Given the description of an element on the screen output the (x, y) to click on. 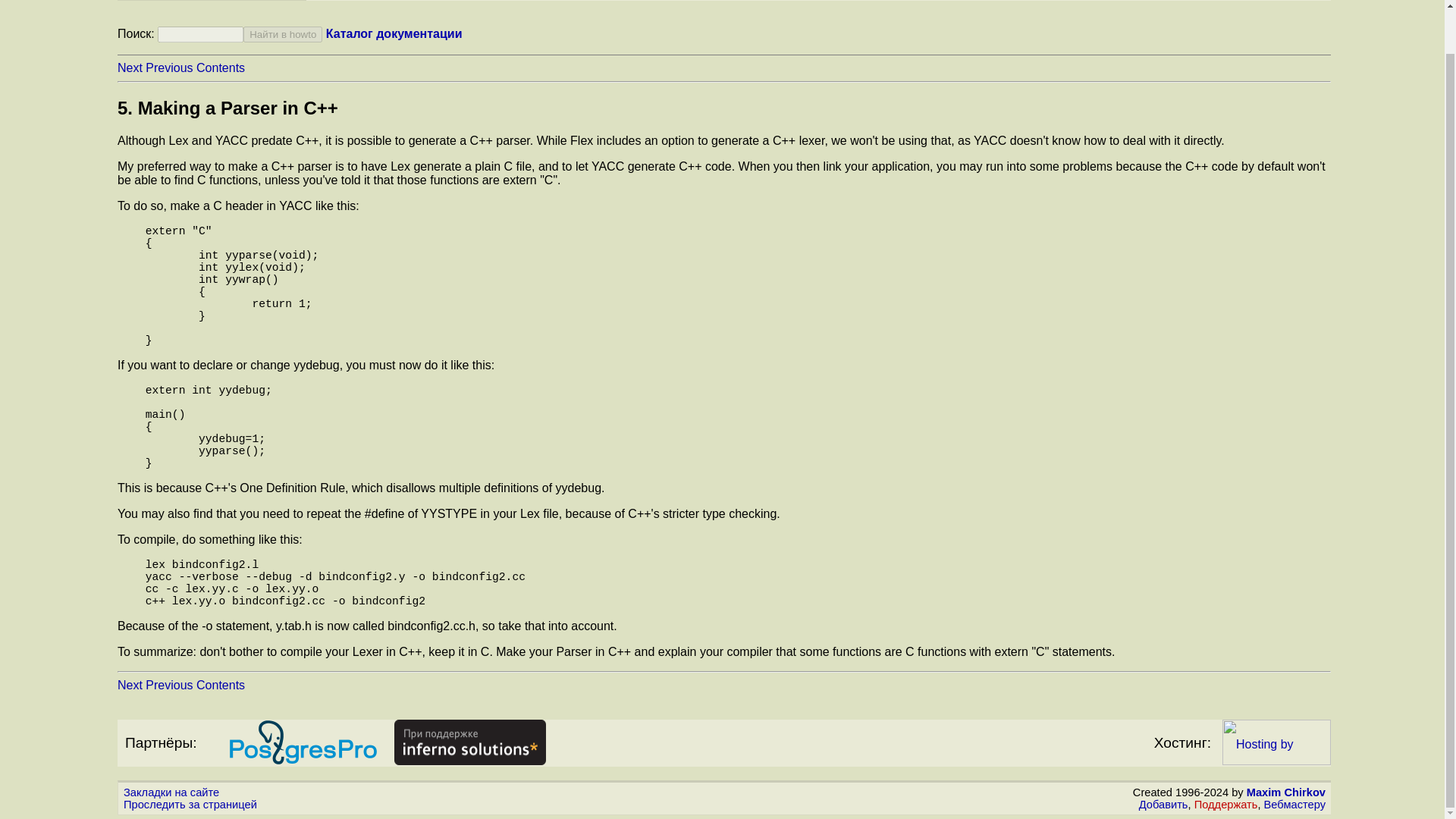
Next (129, 684)
Contents (220, 67)
Next (129, 67)
Maxim Chirkov (1285, 792)
Previous (168, 684)
Contents (220, 684)
Previous (168, 67)
